Given the description of an element on the screen output the (x, y) to click on. 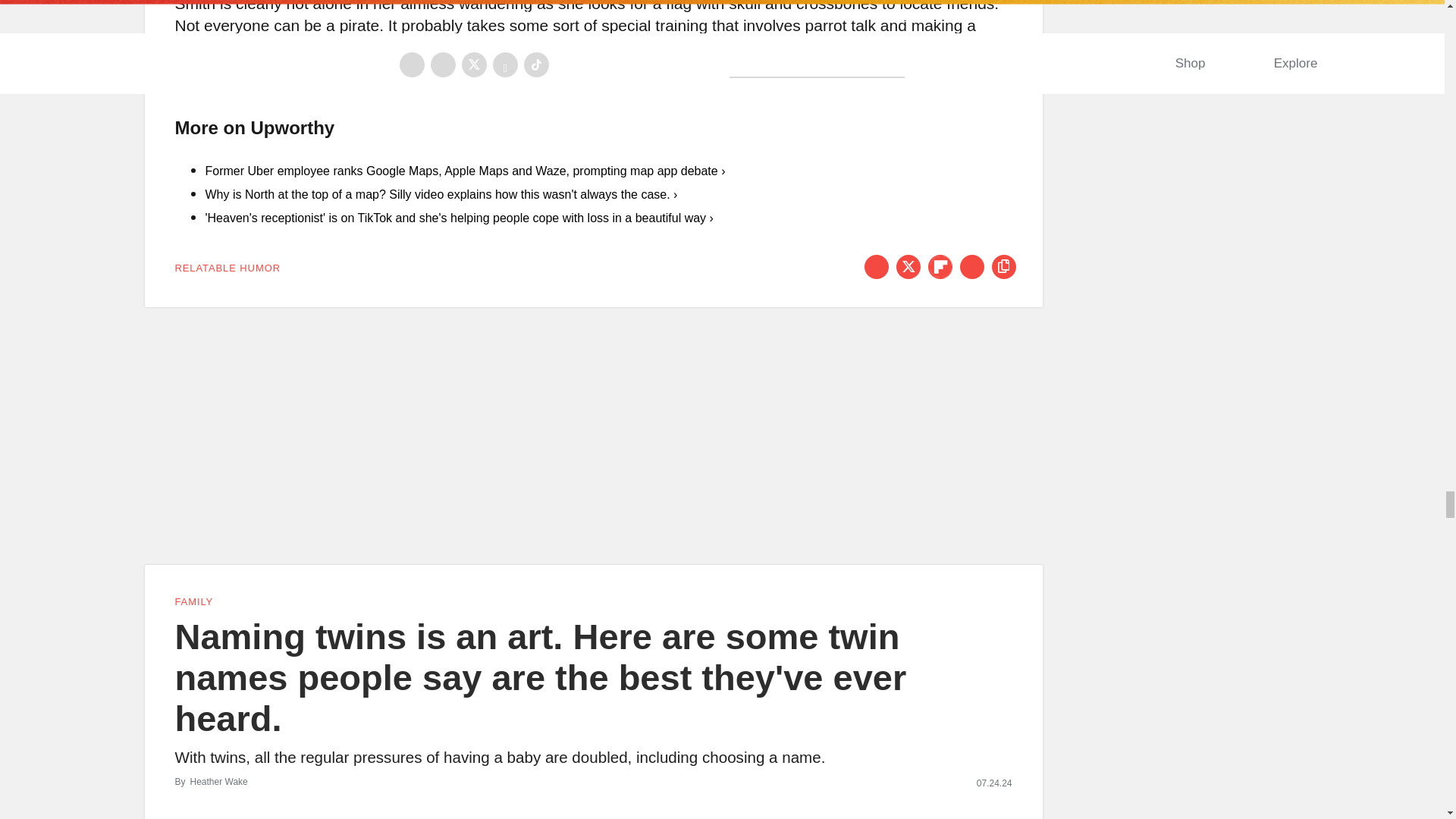
Copy this link to clipboard (1003, 266)
